Given the description of an element on the screen output the (x, y) to click on. 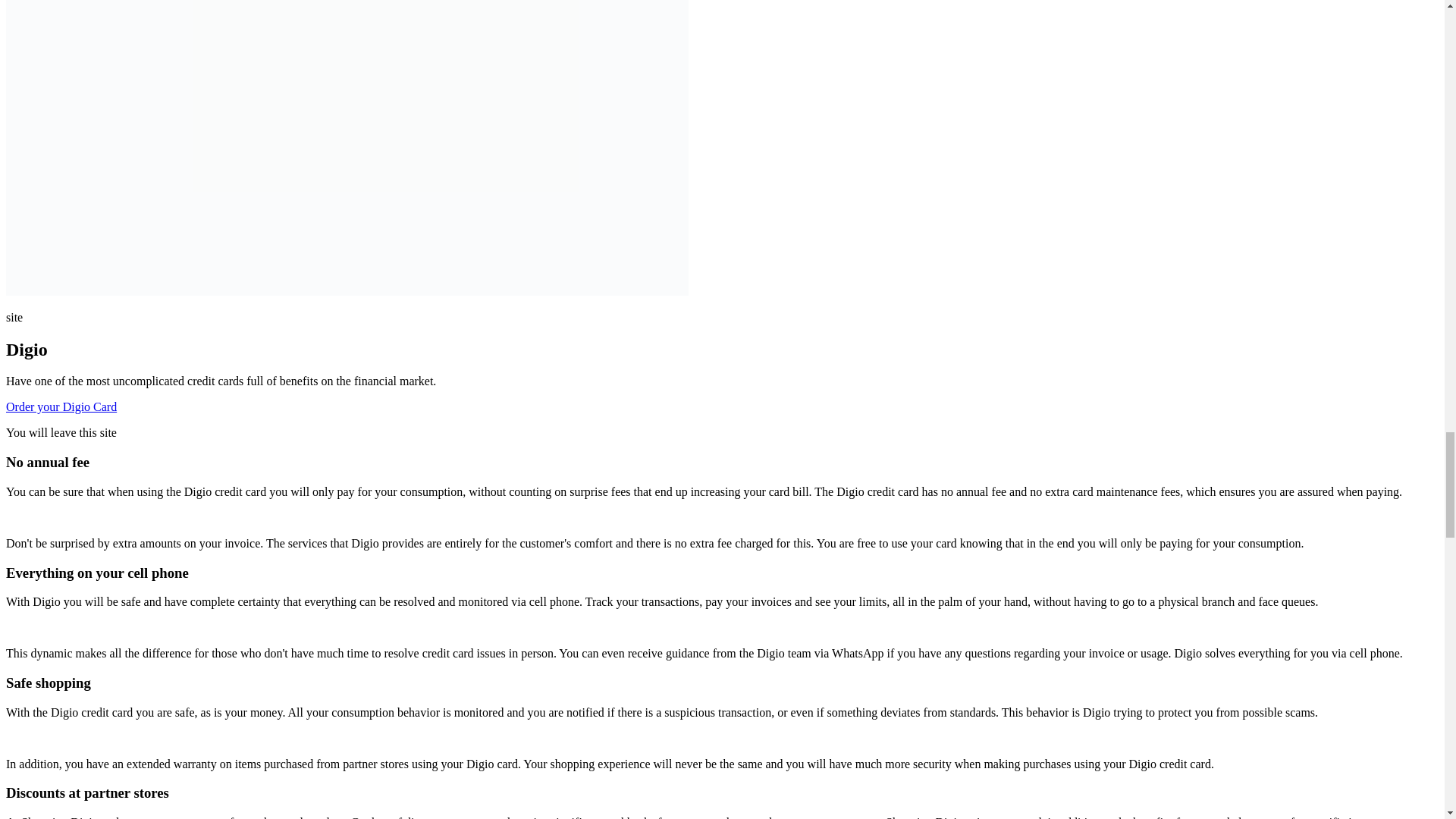
Order your Digio Card (60, 406)
